Given the description of an element on the screen output the (x, y) to click on. 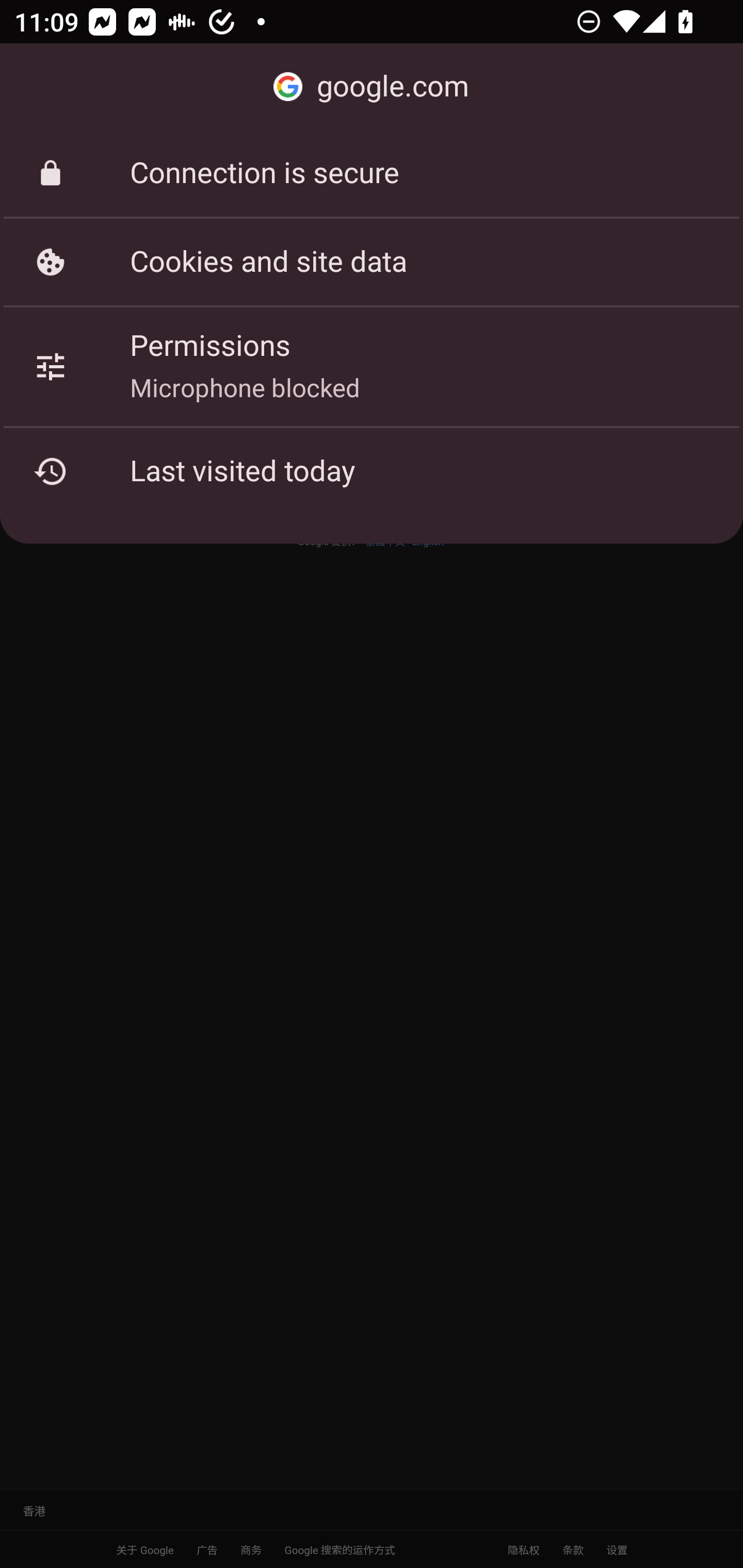
google.com (371, 86)
Connection is secure (371, 173)
Cookies and site data (371, 261)
Permissions Microphone blocked (371, 366)
Last visited today (371, 471)
